Given the description of an element on the screen output the (x, y) to click on. 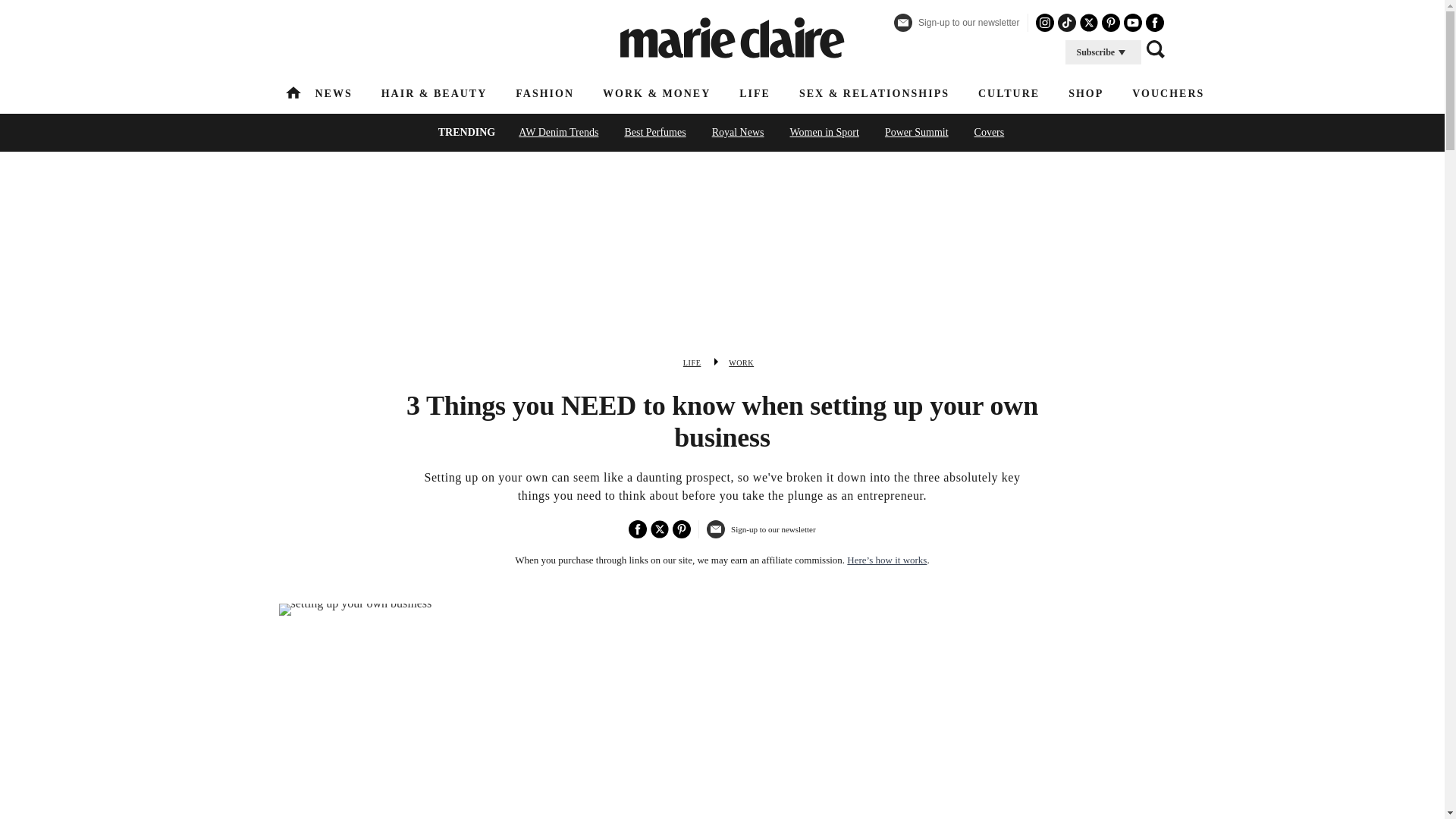
NEWS (333, 93)
LIFE (754, 93)
FASHION (544, 93)
